Given the description of an element on the screen output the (x, y) to click on. 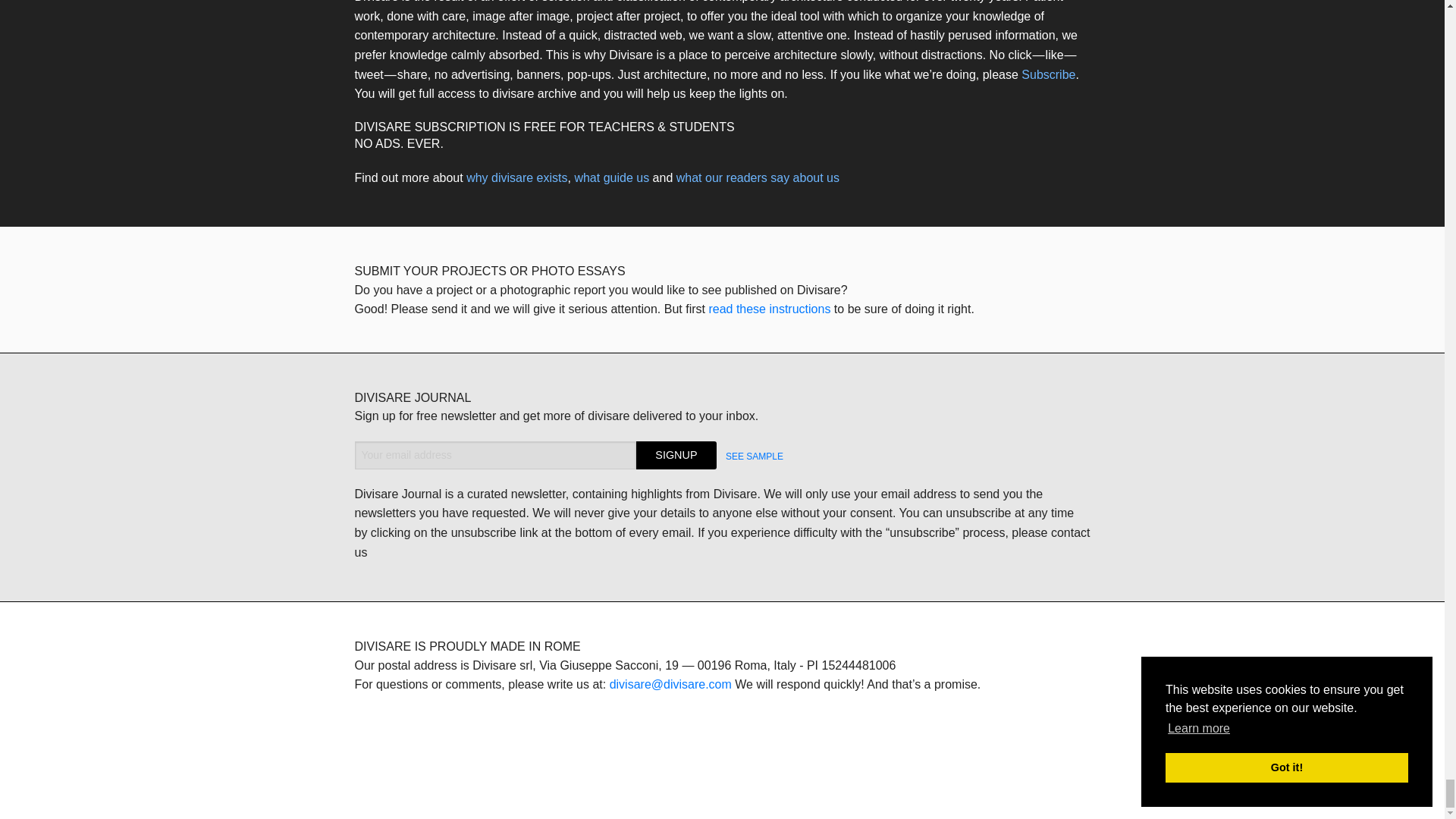
Signup (676, 455)
